Given the description of an element on the screen output the (x, y) to click on. 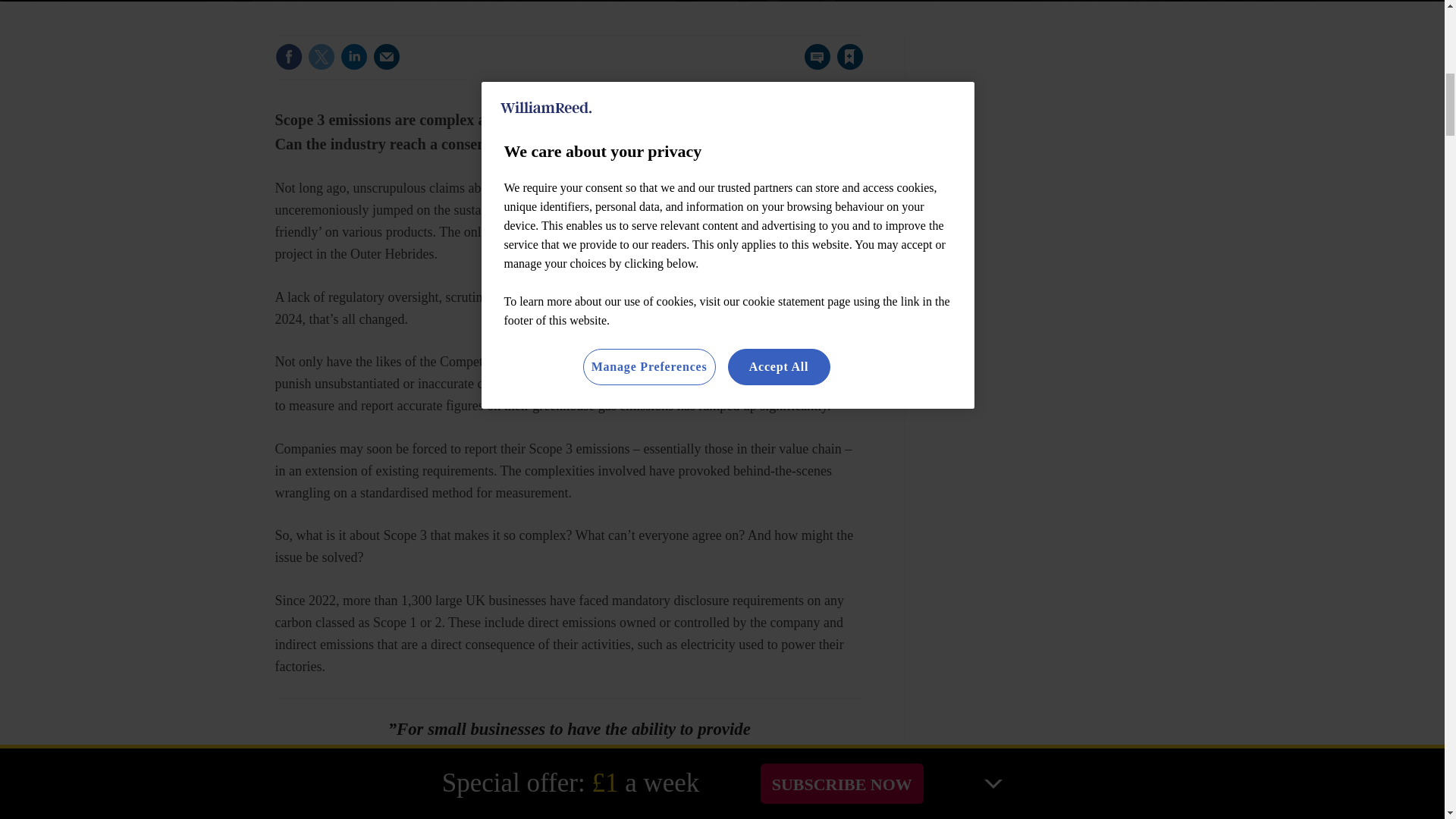
No comments (812, 65)
Share this on Linked in (352, 56)
Share this on Twitter (320, 56)
Email this article (386, 56)
Share this on Facebook (288, 56)
